Given the description of an element on the screen output the (x, y) to click on. 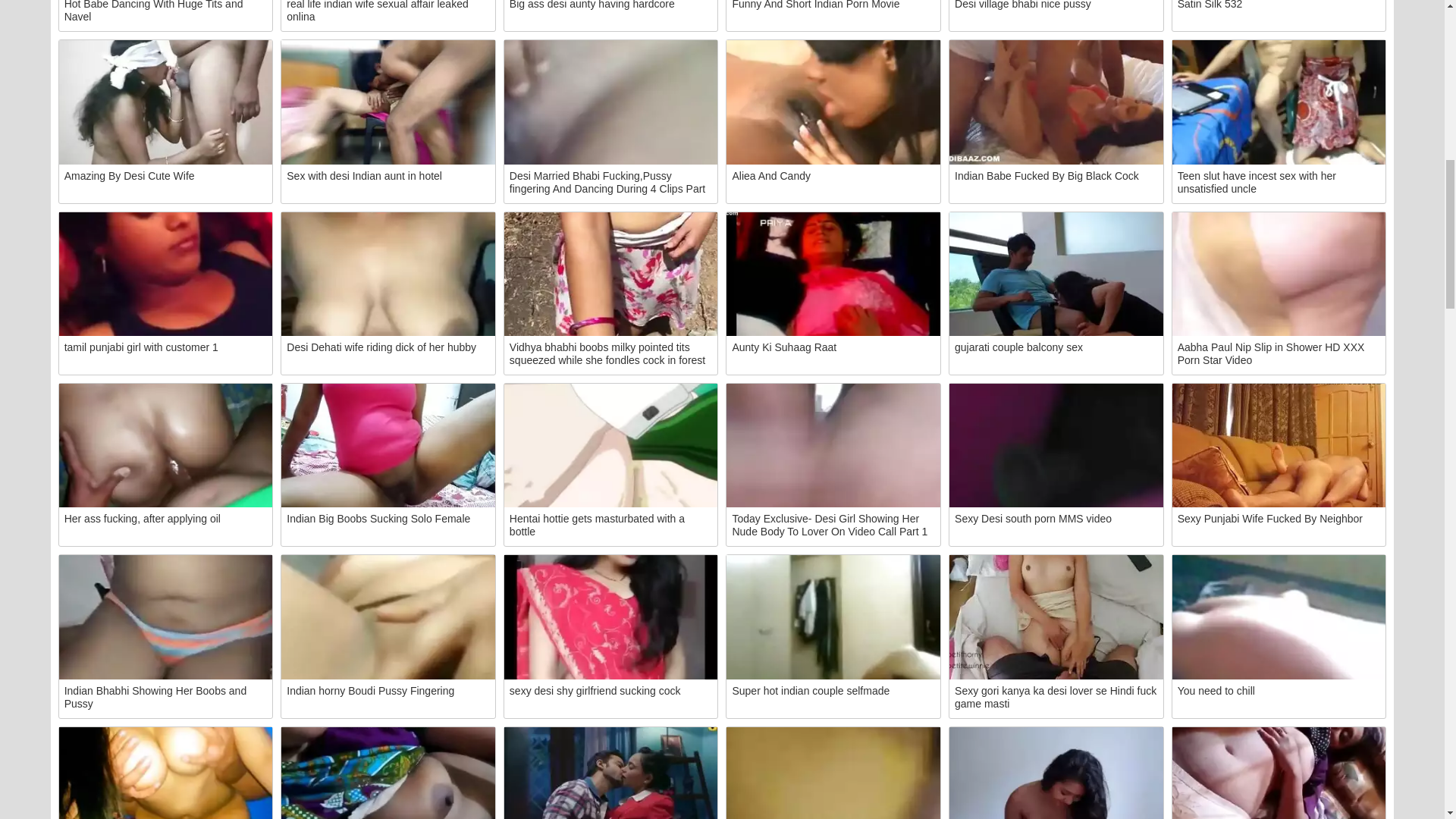
Teen slut have incest sex with her unsatisfied uncle (1279, 101)
Aliea And Candy (833, 101)
Amazing By Desi Cute Wife (166, 101)
Aabha Paul Nip Slip in Shower HD XXX Porn Star Video (1279, 273)
Her ass fucking, after applying oil (166, 445)
tamil punjabi girl with customer 1 (166, 273)
Desi Dehati wife riding dick of her hubby (388, 273)
Sex with desi Indian aunt in hotel (388, 101)
Indian Babe Fucked By Big Black Cock (1056, 101)
Aunty Ki Suhaag Raat (833, 273)
gujarati couple balcony sex (1056, 273)
